Given the description of an element on the screen output the (x, y) to click on. 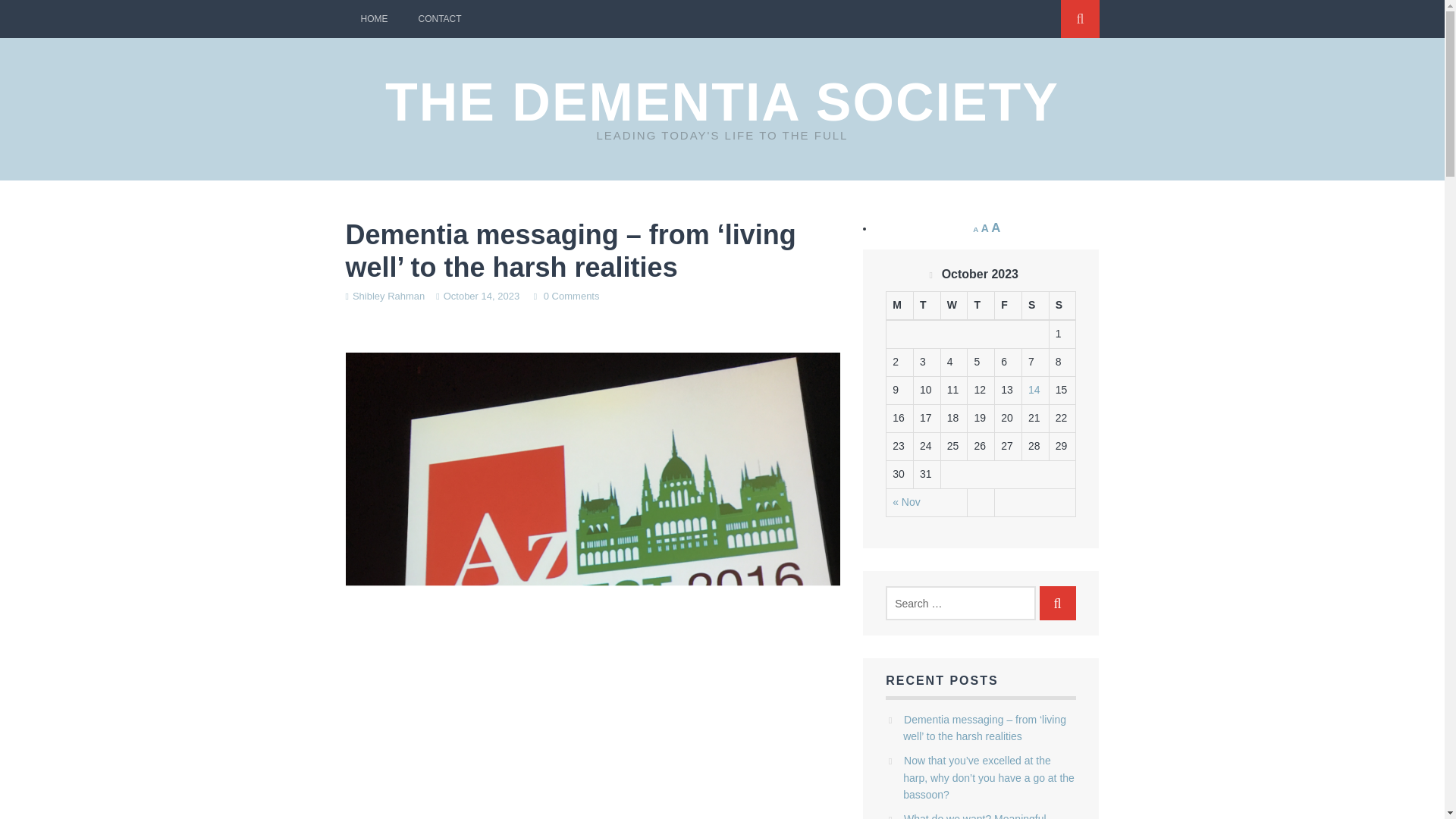
Saturday (1035, 305)
A (995, 227)
HOME (374, 18)
Tuesday (926, 305)
October 14, 2023 (481, 296)
0 Comments (571, 296)
Search for: (960, 602)
Thursday (981, 305)
A (975, 229)
Shibley Rahman (388, 296)
14 (1034, 389)
THE DEMENTIA SOCIETY (722, 101)
Sunday (1061, 305)
CONTACT (440, 18)
Decrease font size (975, 229)
